Given the description of an element on the screen output the (x, y) to click on. 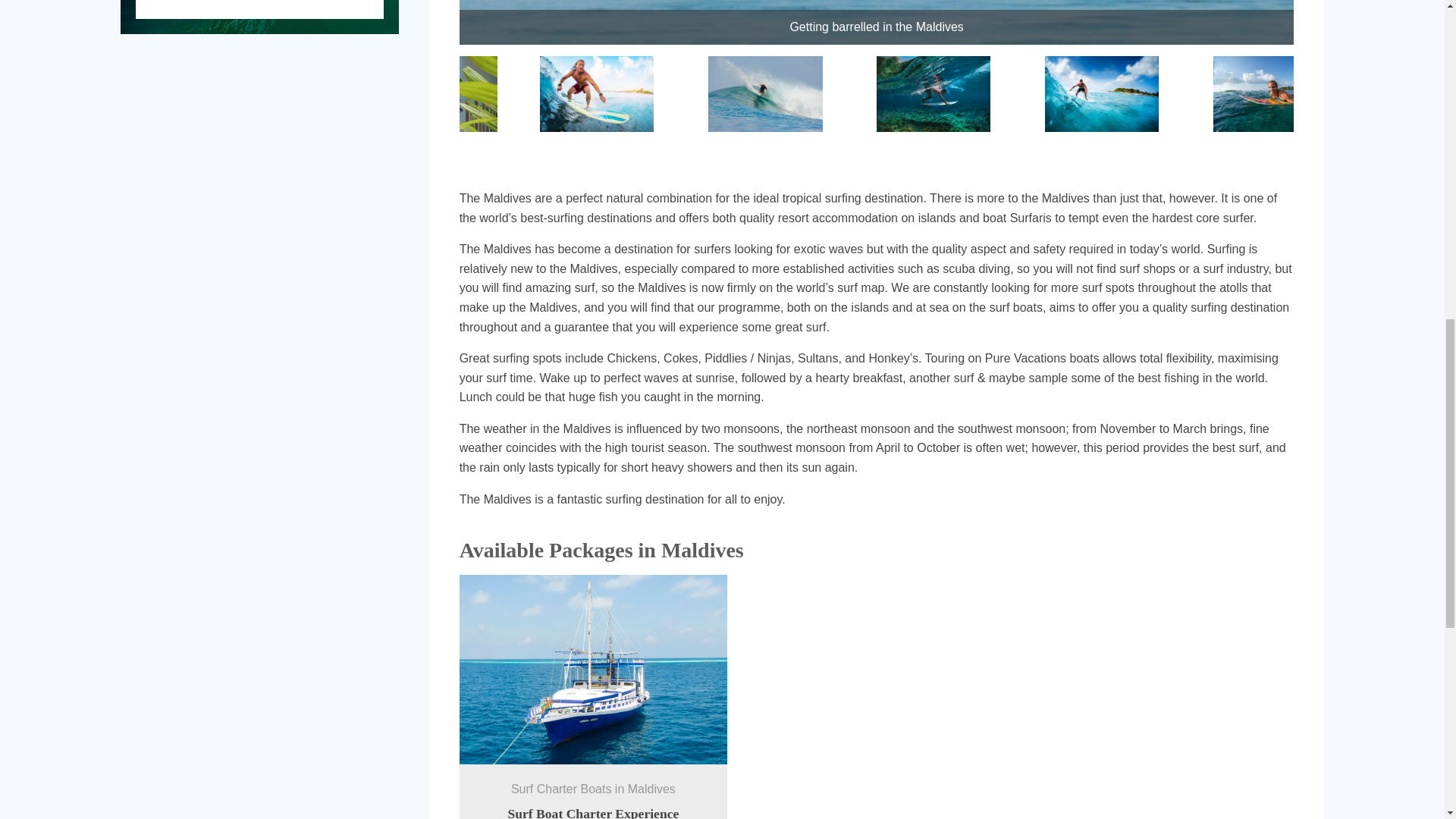
Subscribe Newsletter (259, 9)
Surf Boat Charter Experience (592, 812)
Surf Boat Charter Experience (592, 812)
